Given the description of an element on the screen output the (x, y) to click on. 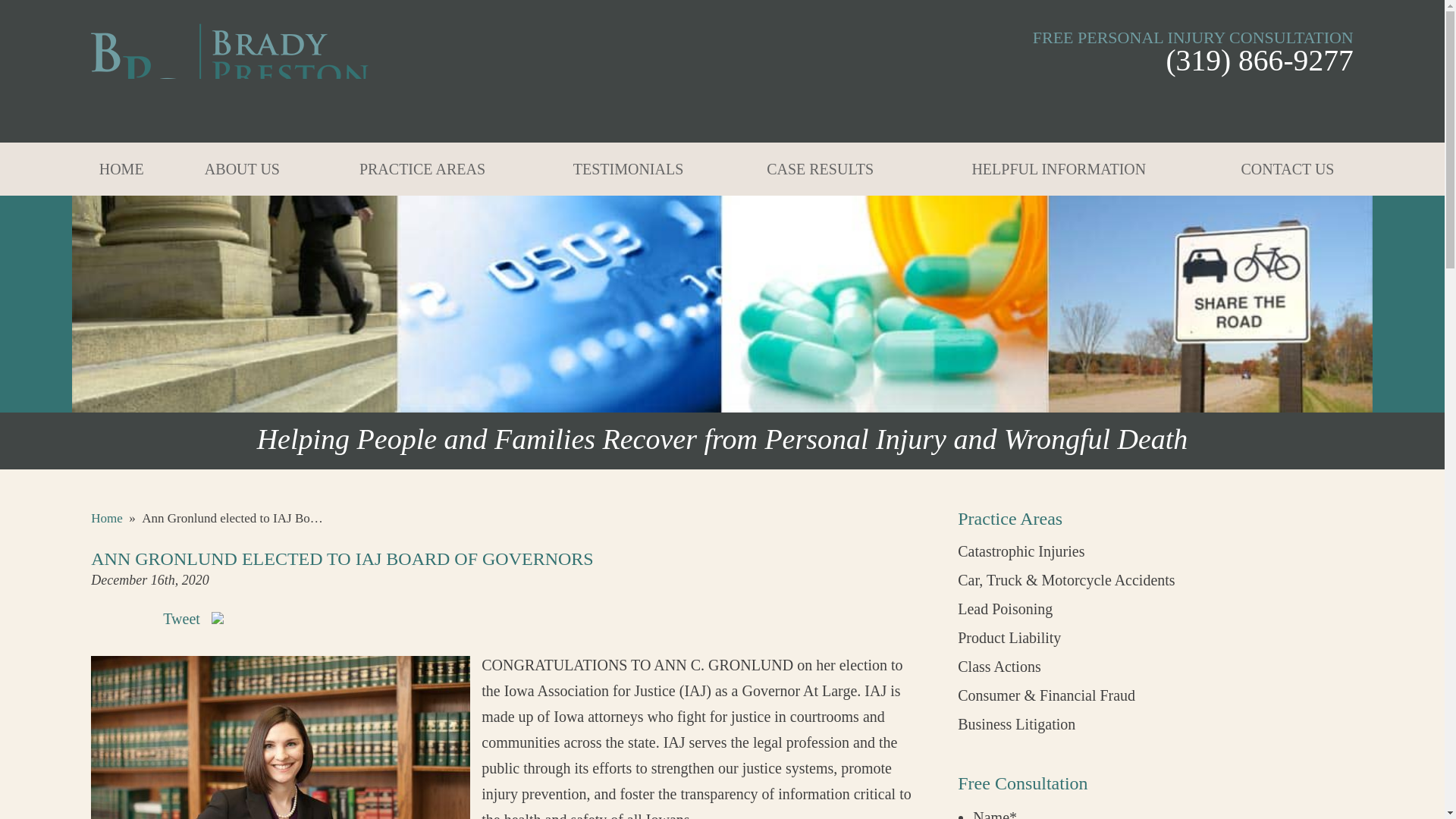
ABOUT US (242, 168)
Product Liability (1009, 637)
Read more about Lead Poisoning (1005, 608)
HOME (120, 168)
Home (106, 518)
CONTACT US (1287, 168)
Read more about Catastrophic Injuries (1021, 550)
TESTIMONIALS (628, 168)
Business Litigation (1016, 723)
Read more about Product Liability (1009, 637)
PRACTICE AREAS (422, 168)
HELPFUL INFORMATION (1059, 168)
Read more about Business Litigation (1016, 723)
CASE RESULTS (820, 168)
Class Actions (999, 666)
